Given the description of an element on the screen output the (x, y) to click on. 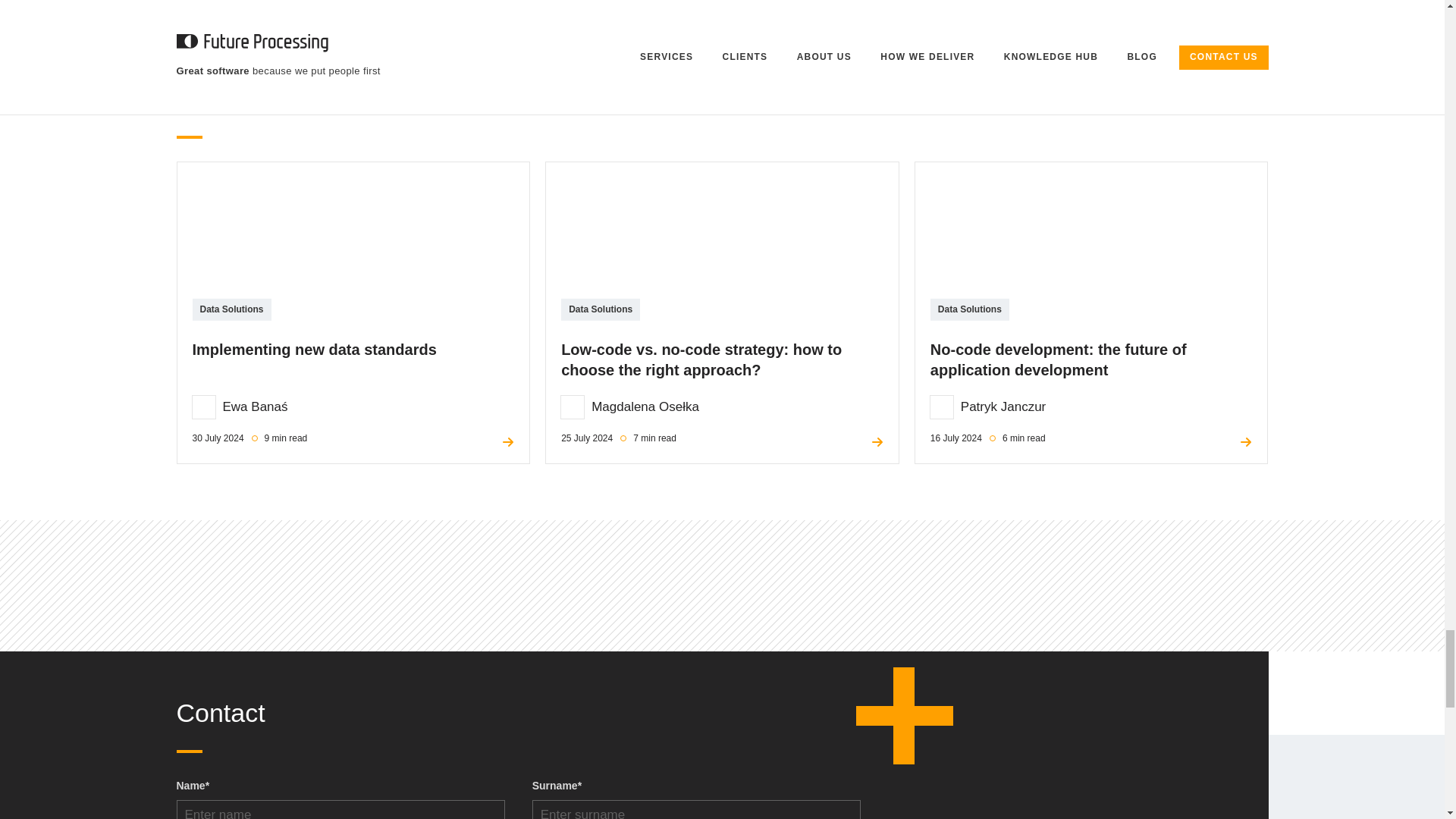
Implementing new data standards (352, 235)
No-code development: the future of application development (1091, 235)
